Given the description of an element on the screen output the (x, y) to click on. 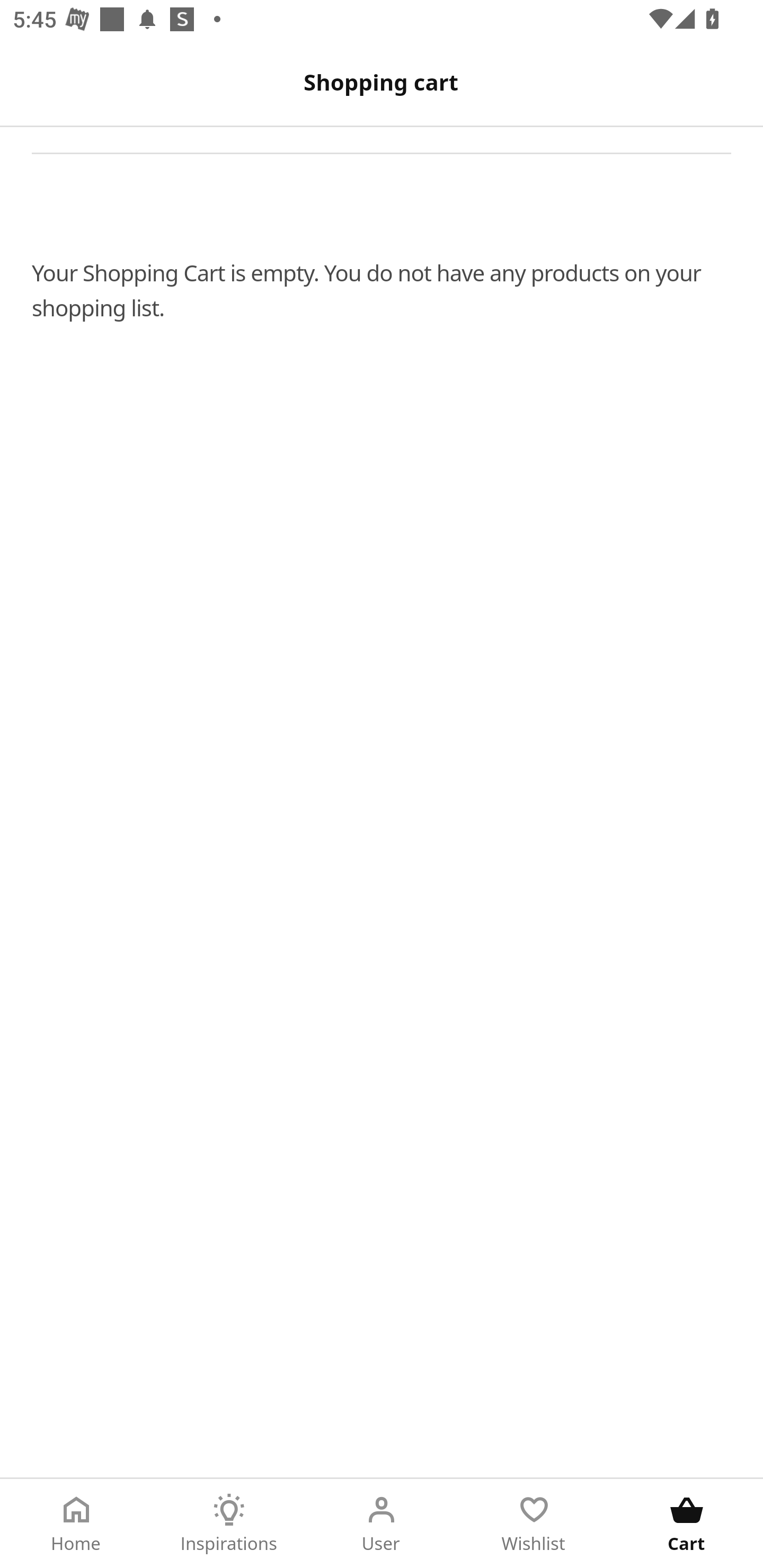
Home
Tab 1 of 5 (76, 1522)
Inspirations
Tab 2 of 5 (228, 1522)
User
Tab 3 of 5 (381, 1522)
Wishlist
Tab 4 of 5 (533, 1522)
Cart
Tab 5 of 5 (686, 1522)
